Given the description of an element on the screen output the (x, y) to click on. 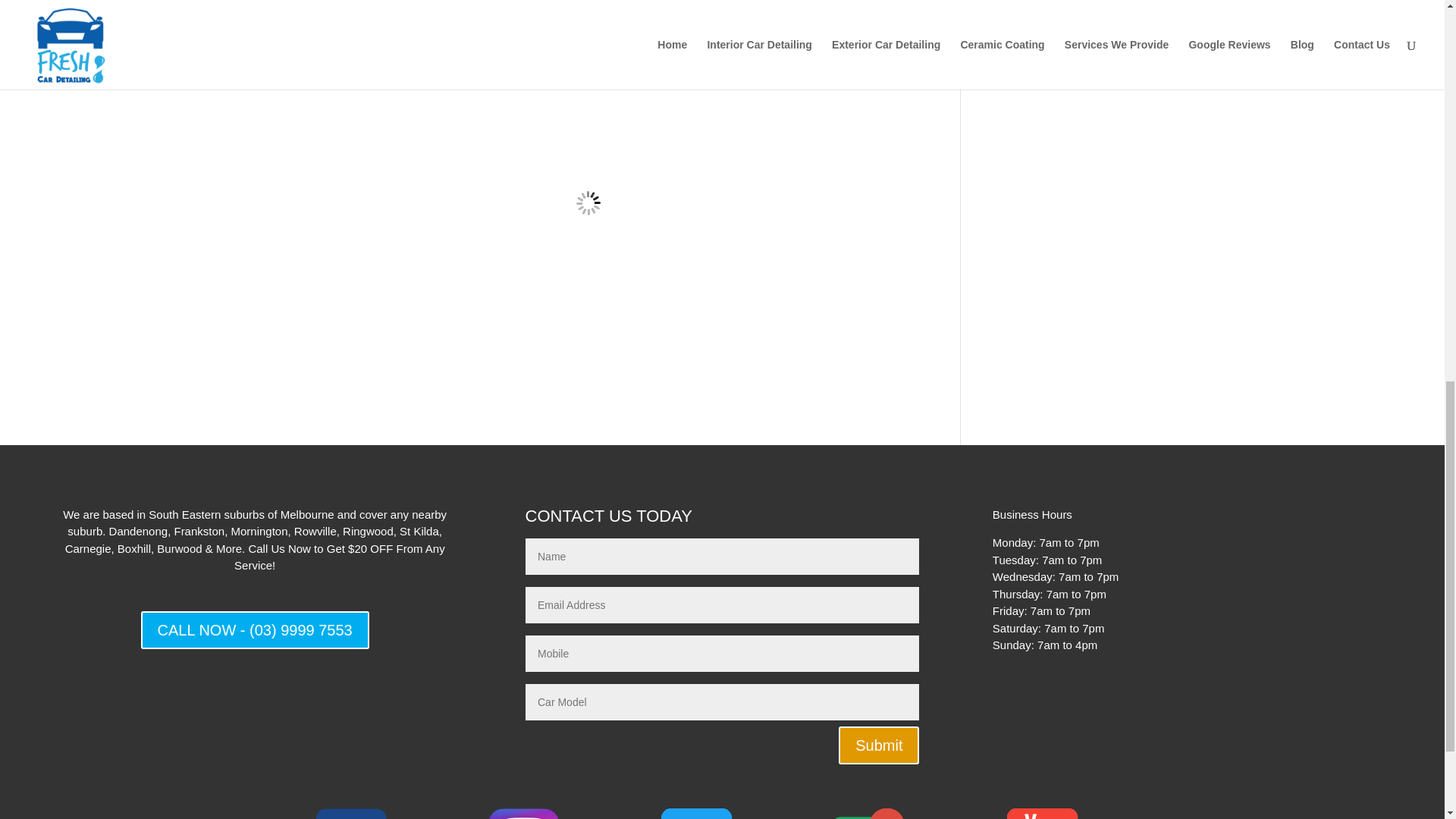
Fresh car detailing - mobile car wash Melbourne YouTube link (1042, 812)
Fresh car detailing - mobile car wash Melbourne Twitter link (695, 812)
